Given the description of an element on the screen output the (x, y) to click on. 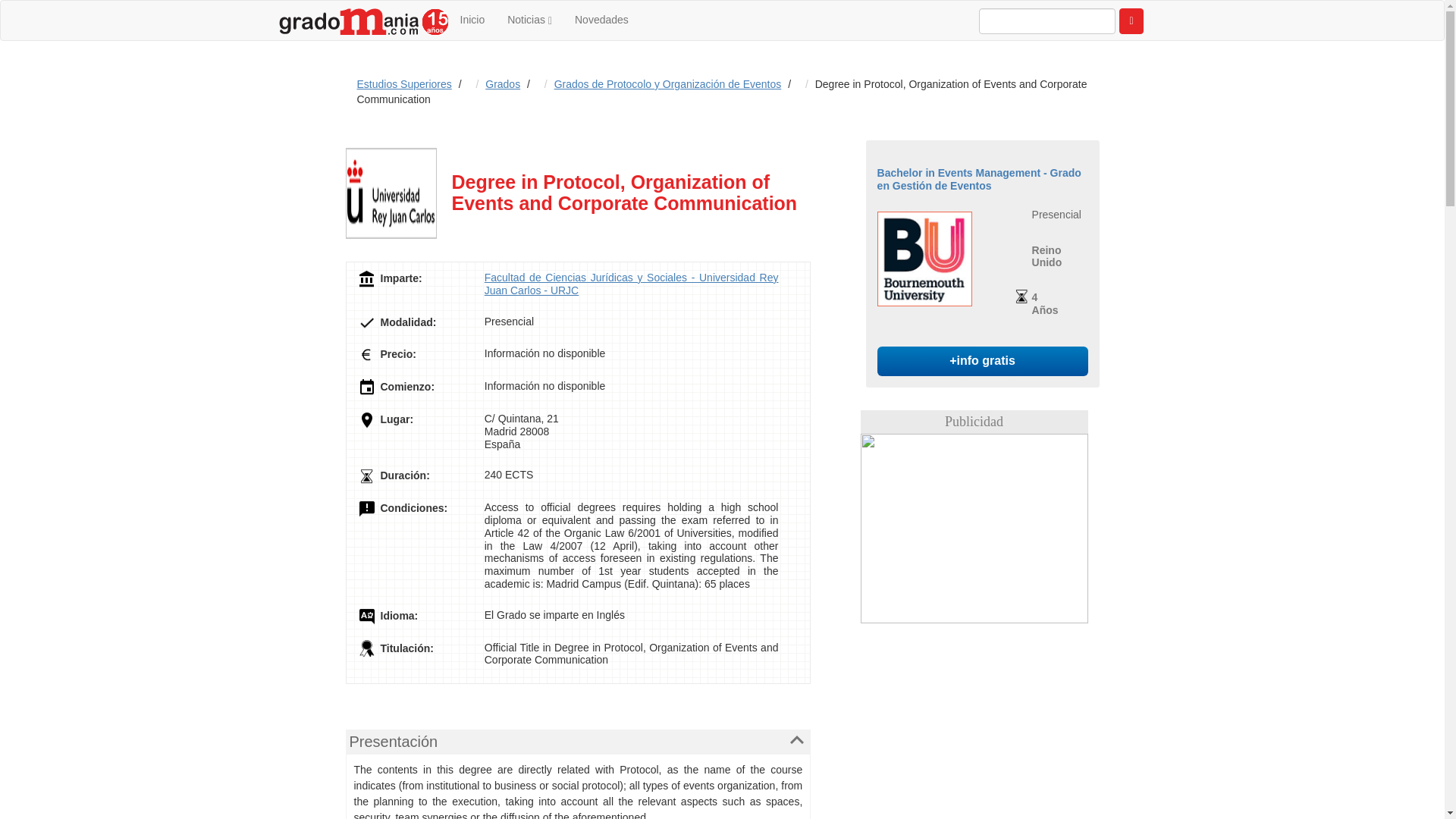
Inicio (472, 19)
Estudios Superiores (403, 83)
Noticias (529, 19)
Grados (501, 83)
Novedades (601, 19)
The Bournemouth University Business School (924, 258)
